Given the description of an element on the screen output the (x, y) to click on. 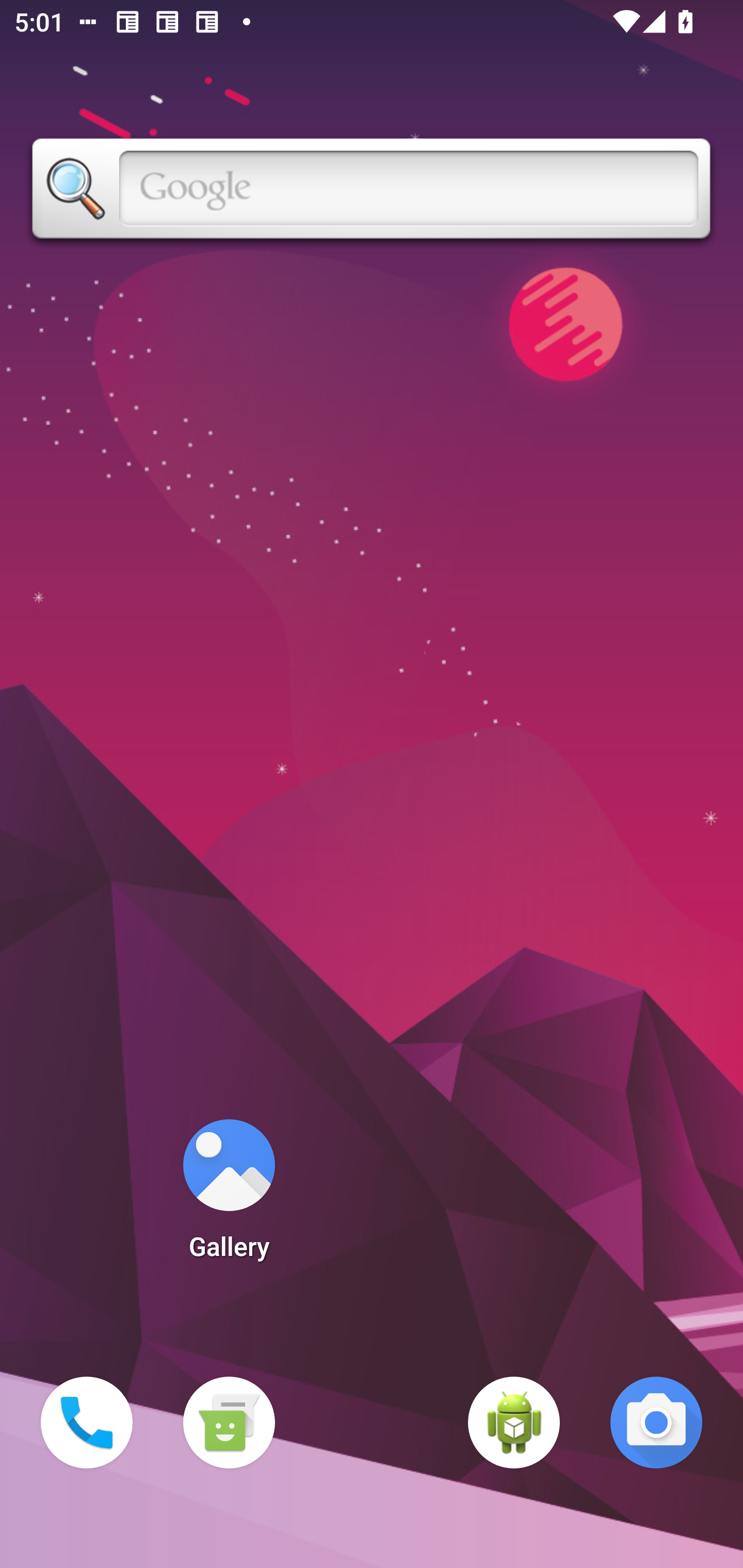
Gallery (228, 1195)
Phone (86, 1422)
Messaging (228, 1422)
WebView Browser Tester (513, 1422)
Camera (656, 1422)
